Given the description of an element on the screen output the (x, y) to click on. 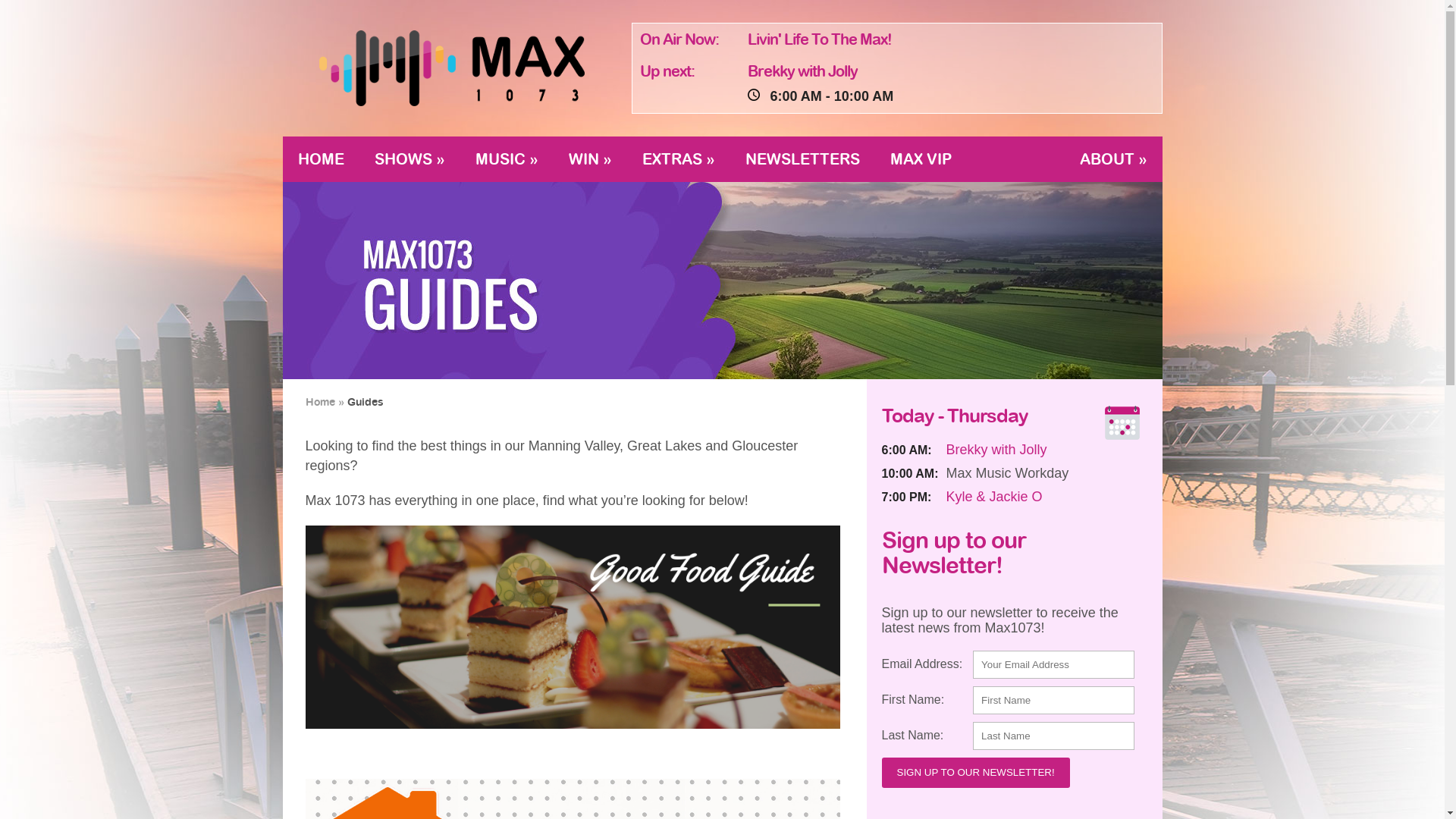
Brekky with Jolly Element type: text (996, 448)
Home Element type: text (319, 401)
Brekky with Jolly Element type: text (802, 71)
MAX VIP Element type: text (920, 159)
Sign up to our Newsletter! Element type: text (975, 771)
HOME Element type: text (320, 159)
NEWSLETTERS Element type: text (801, 159)
Kyle & Jackie O Element type: text (994, 495)
